Given the description of an element on the screen output the (x, y) to click on. 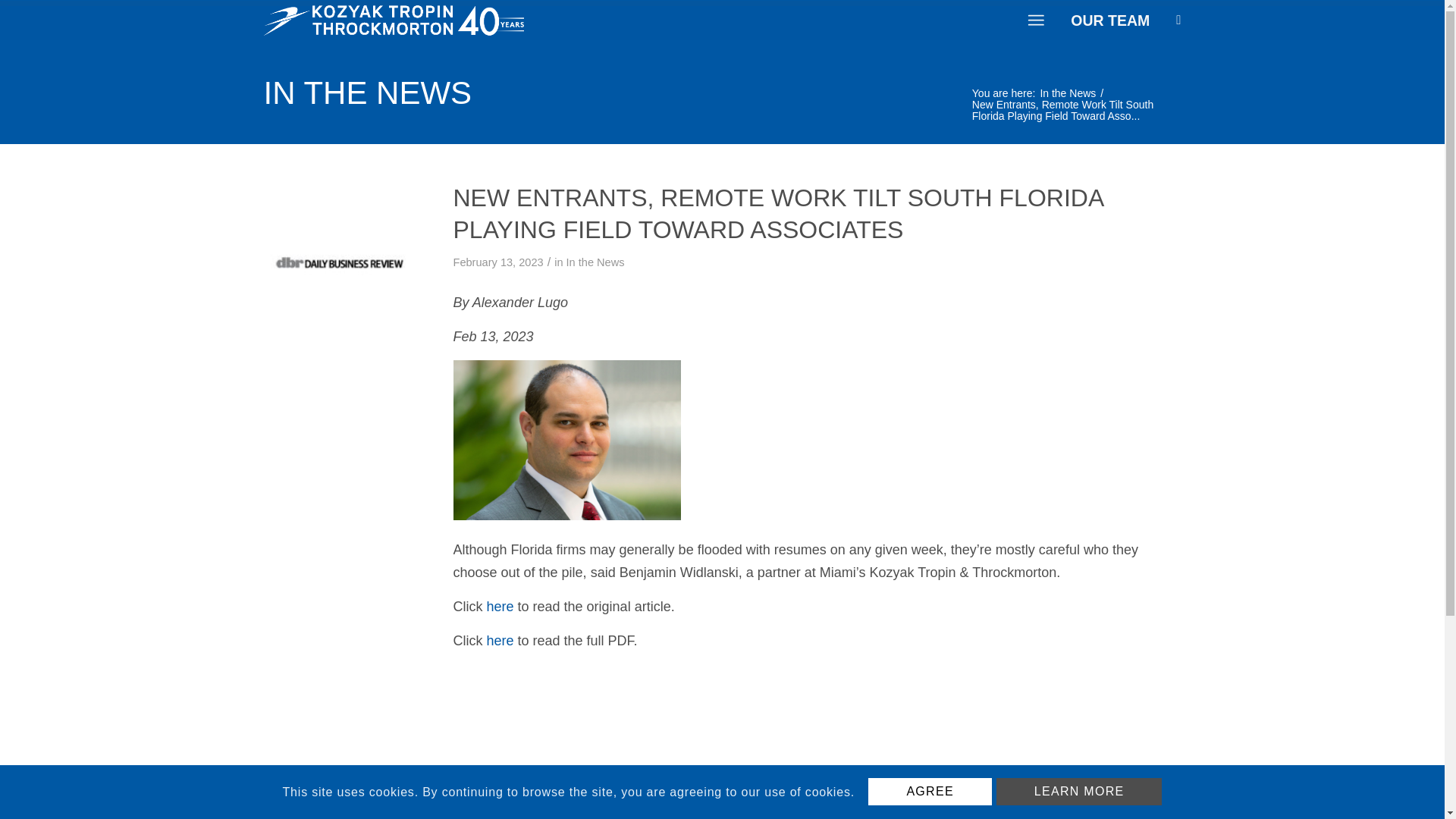
Permanent Link: In the News (721, 92)
OUR TEAM (1110, 20)
